Given the description of an element on the screen output the (x, y) to click on. 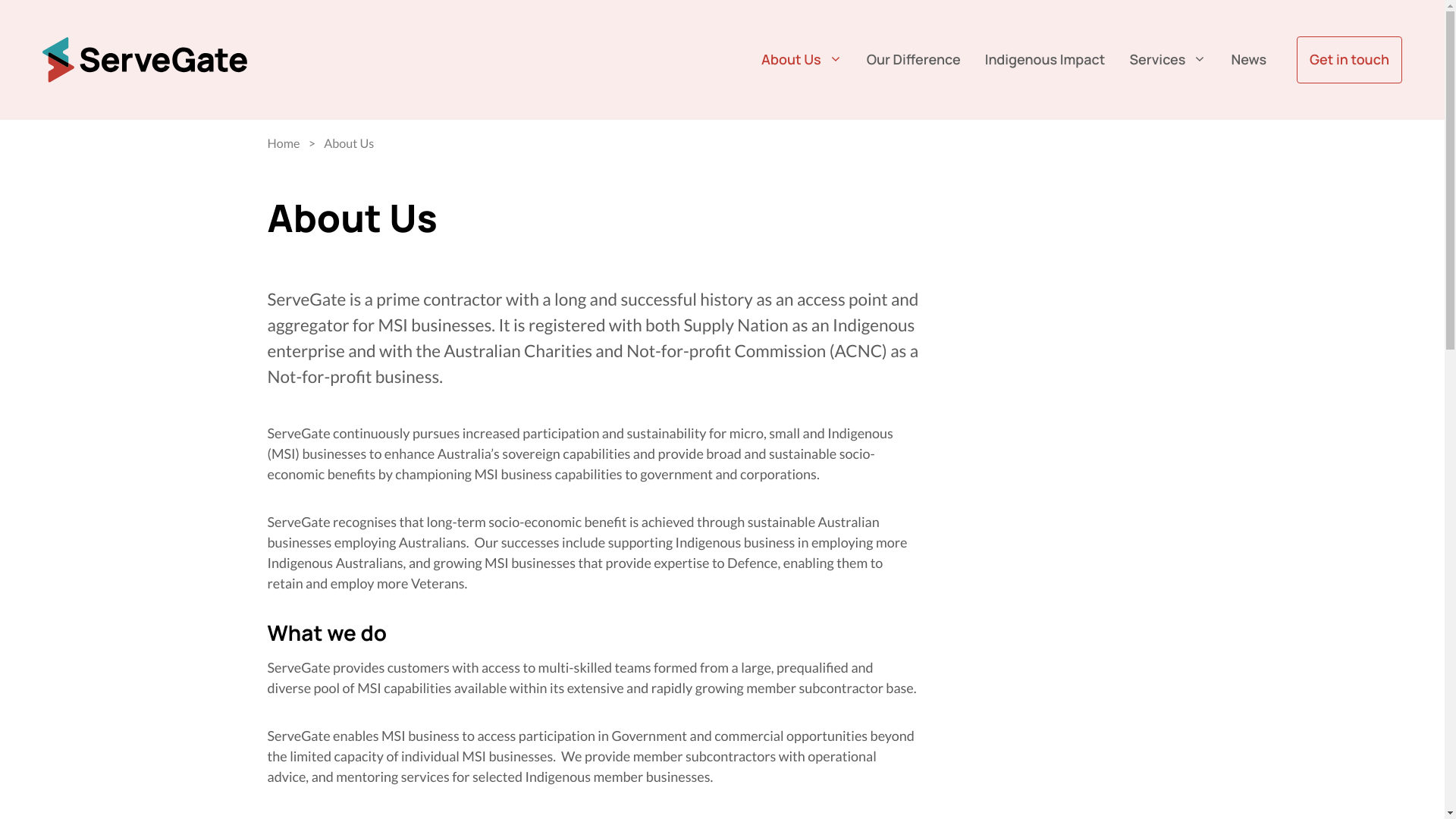
News Element type: text (1248, 59)
ServeGate Element type: hover (144, 59)
Our Difference Element type: text (913, 59)
About Us Element type: text (801, 59)
Get in touch Element type: text (1349, 59)
Home Element type: text (282, 143)
Services Element type: text (1167, 59)
Indigenous Impact Element type: text (1044, 59)
ServeGate Element type: hover (144, 58)
